Given the description of an element on the screen output the (x, y) to click on. 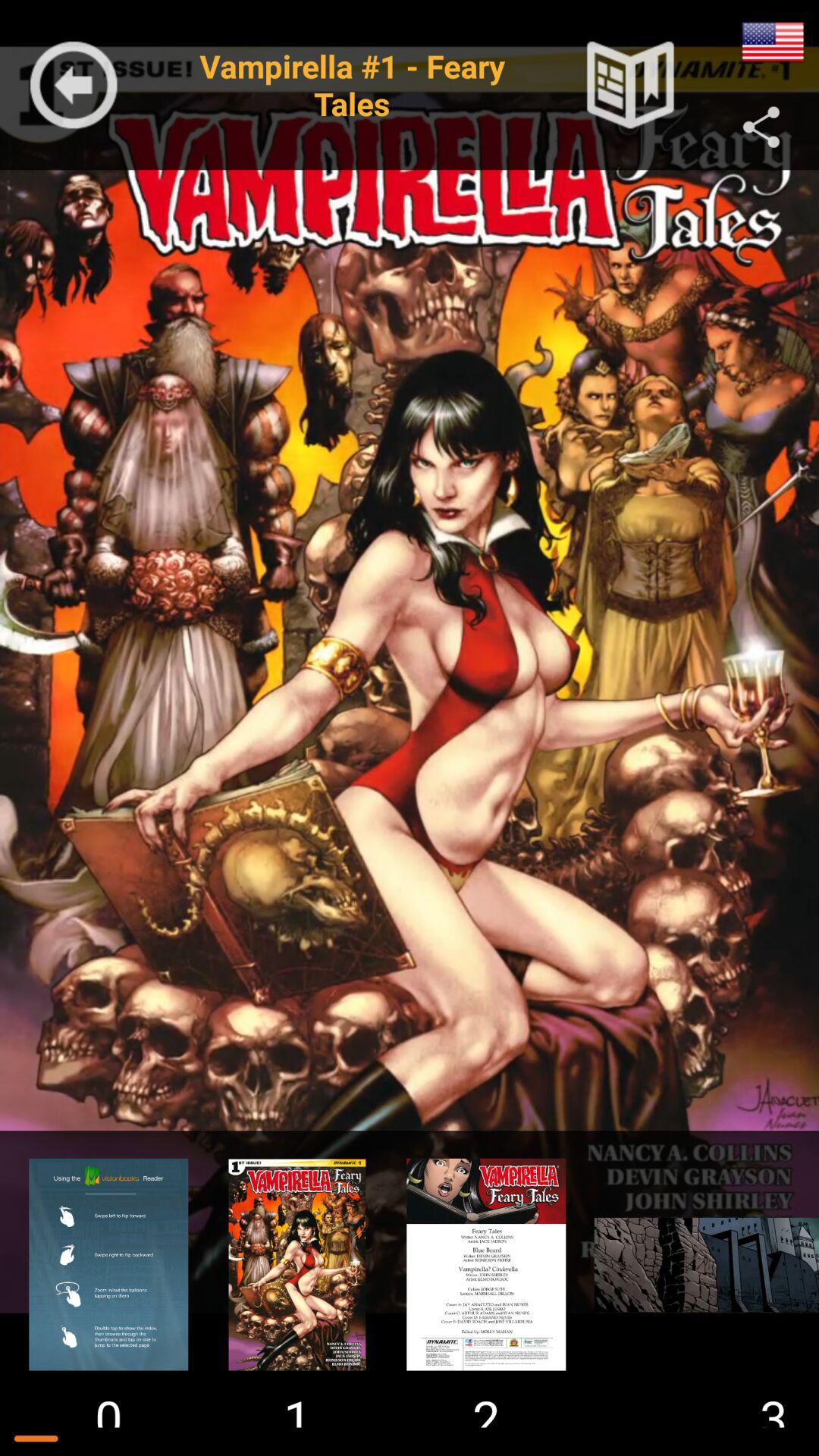
toggle autoplay option (772, 42)
